Given the description of an element on the screen output the (x, y) to click on. 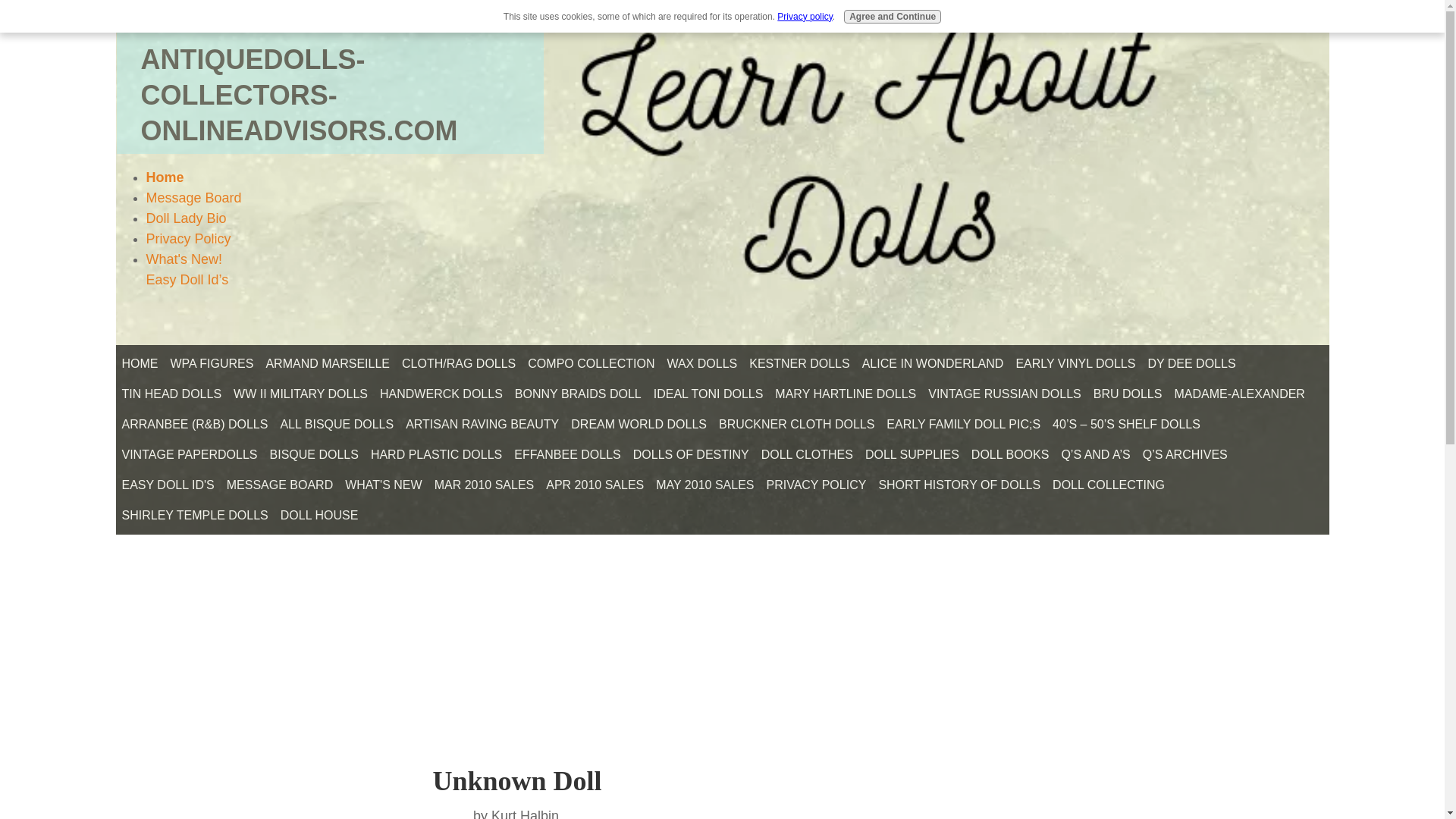
DOLLS OF DESTINY (691, 454)
EFFANBEE DOLLS (567, 454)
ARTISAN RAVING BEAUTY (481, 424)
ALL BISQUE DOLLS (335, 424)
BONNY BRAIDS DOLL (577, 394)
Advertisement (231, 650)
BRU DOLLS (1128, 394)
WPA FIGURES (211, 363)
DREAM WORLD DOLLS (638, 424)
IDEAL TONI DOLLS (708, 394)
HANDWERCK DOLLS (441, 394)
ANTIQUEDOLLS-COLLECTORS-ONLINEADVISORS.COM (299, 95)
HOME (139, 363)
BRUCKNER CLOTH DOLLS (796, 424)
VINTAGE RUSSIAN DOLLS (1004, 394)
